Given the description of an element on the screen output the (x, y) to click on. 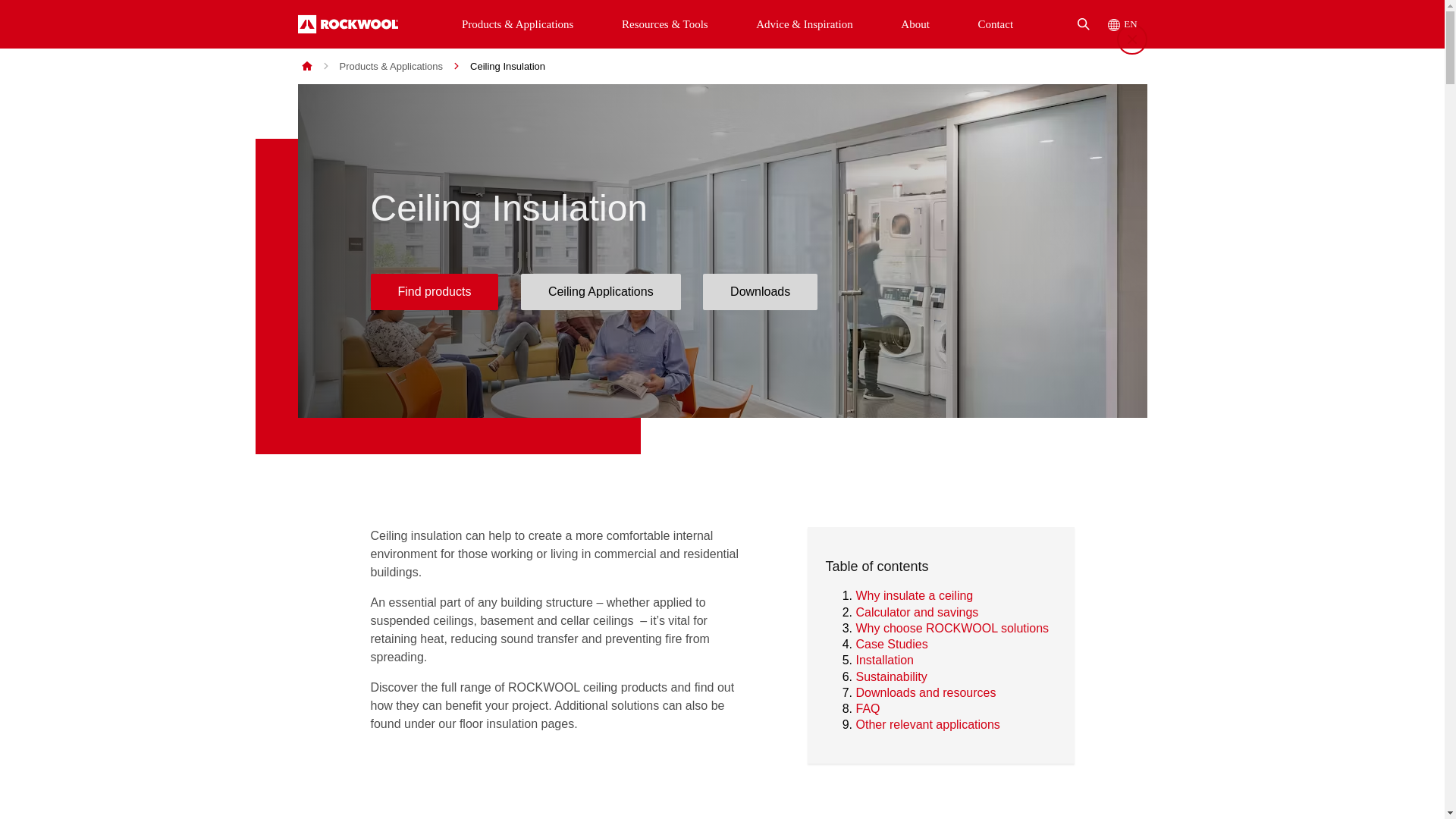
Contact (994, 24)
About (915, 24)
EN (1122, 24)
